Given the description of an element on the screen output the (x, y) to click on. 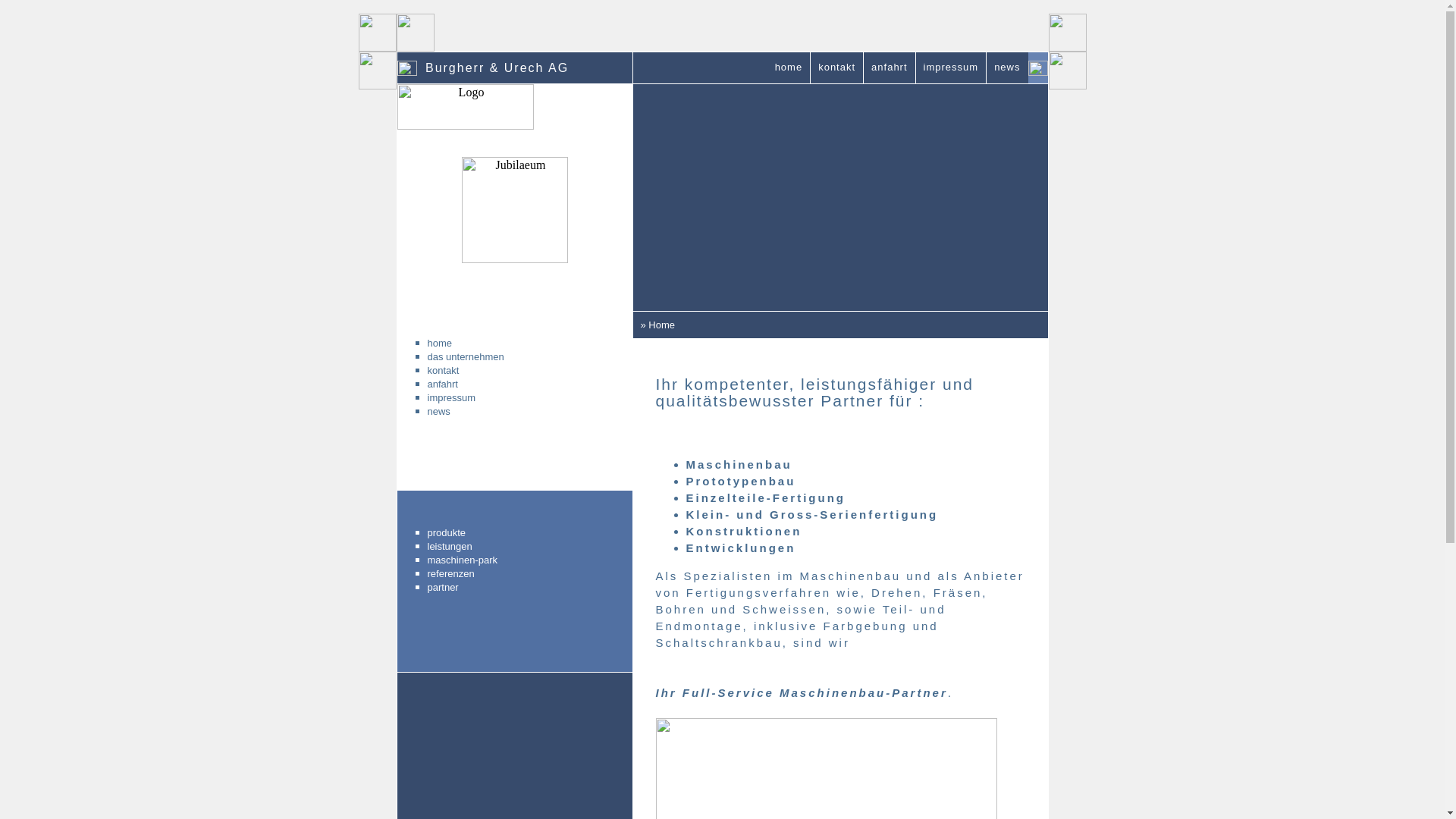
leistungen Element type: text (503, 546)
news Element type: text (1006, 67)
impressum Element type: text (503, 397)
home Element type: text (503, 342)
anfahrt Element type: text (888, 67)
referenzen Element type: text (503, 573)
partner Element type: text (503, 587)
kontakt Element type: text (503, 370)
das unternehmen Element type: text (503, 356)
maschinen-park Element type: text (503, 560)
produkte Element type: text (503, 533)
news Element type: text (503, 410)
anfahrt Element type: text (503, 383)
home Element type: text (788, 67)
kontakt Element type: text (836, 67)
impressum Element type: text (951, 67)
